Given the description of an element on the screen output the (x, y) to click on. 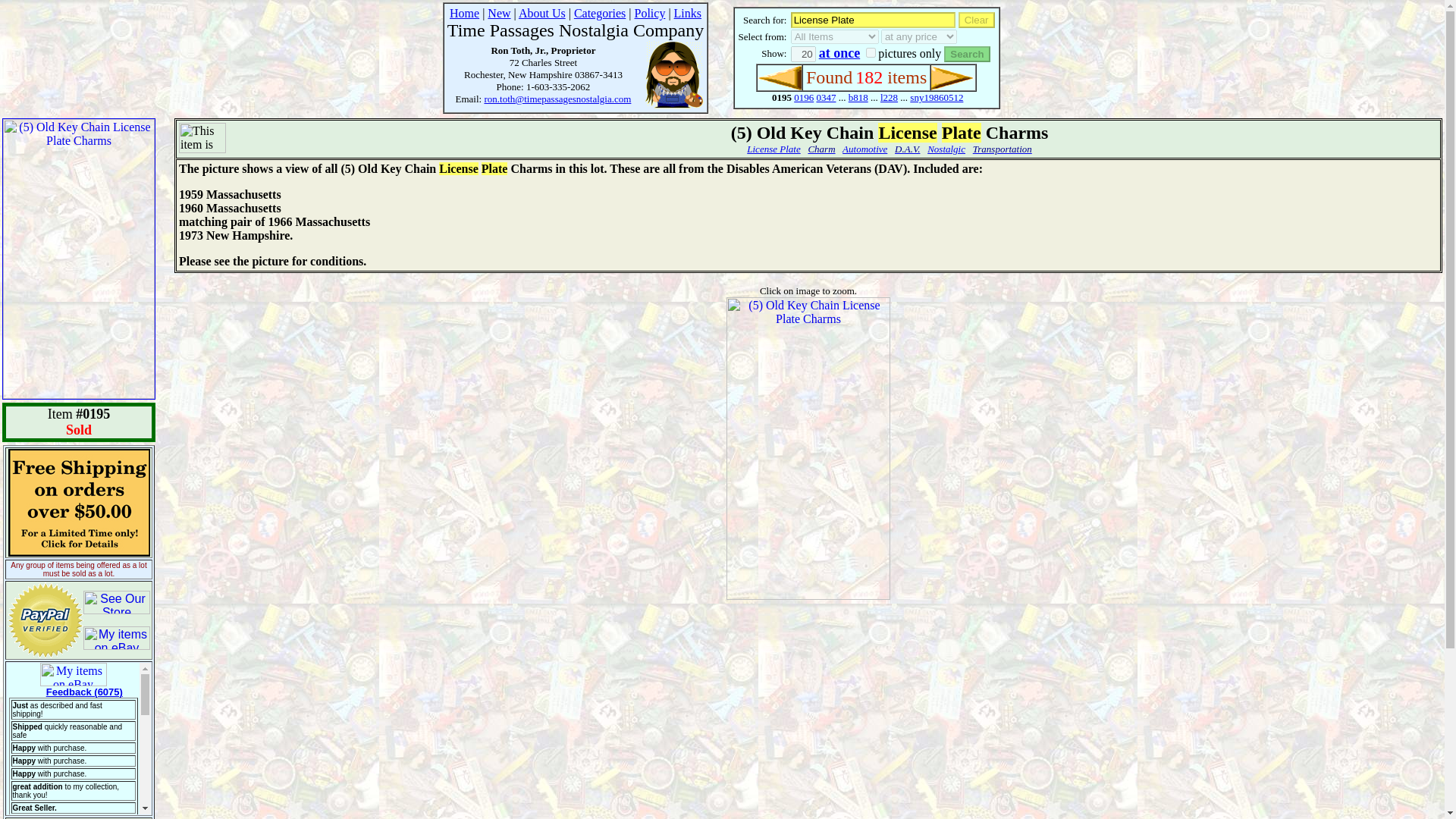
Click on image to zoom. (808, 289)
next page (953, 77)
1 (871, 52)
This item is already sold (202, 137)
Home (464, 12)
Search (966, 53)
b818 (857, 97)
Recent Feedback (79, 738)
Links (687, 12)
Click here now for this limited time offer (78, 502)
